Given the description of an element on the screen output the (x, y) to click on. 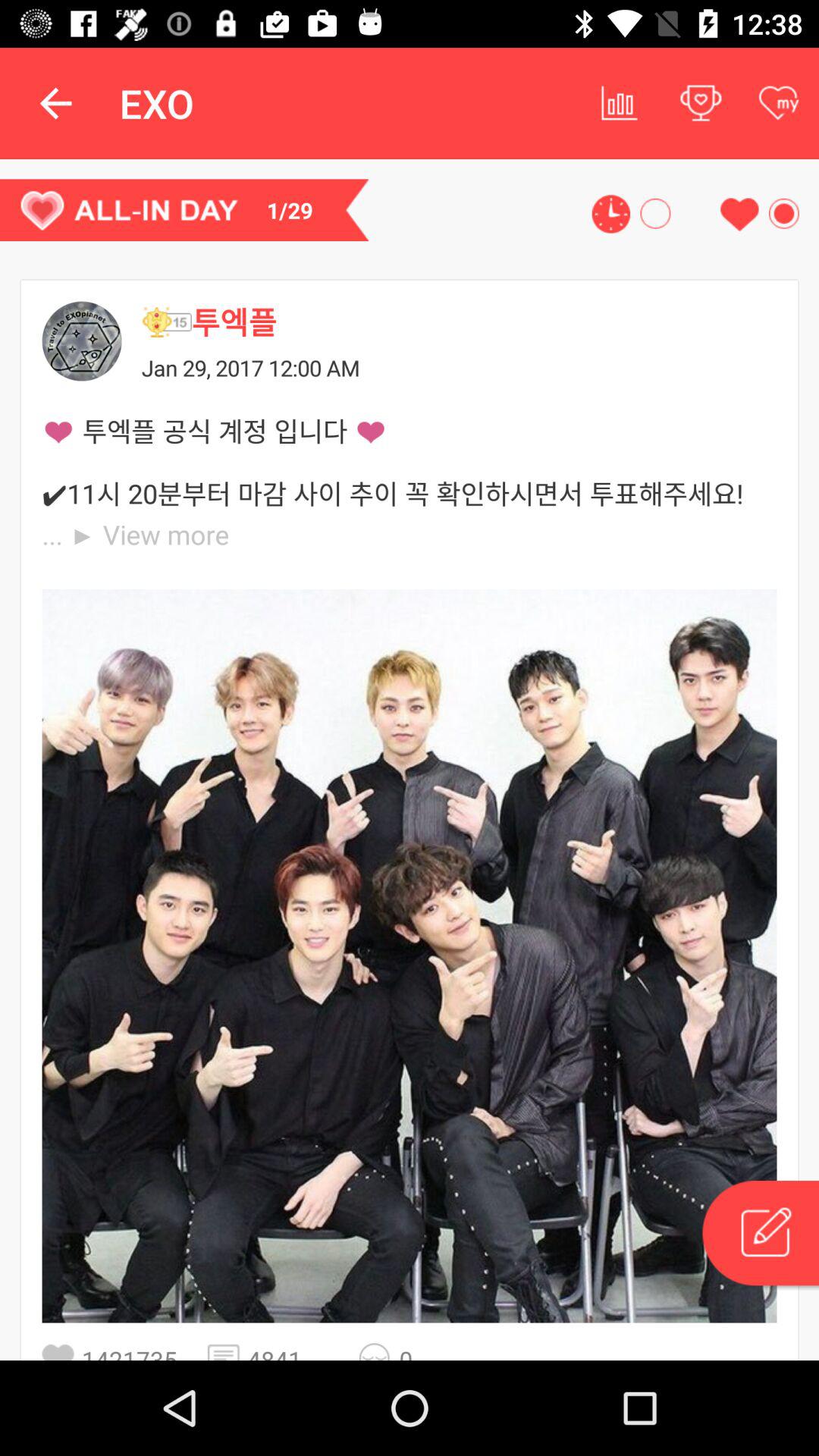
write a message (759, 1235)
